Given the description of an element on the screen output the (x, y) to click on. 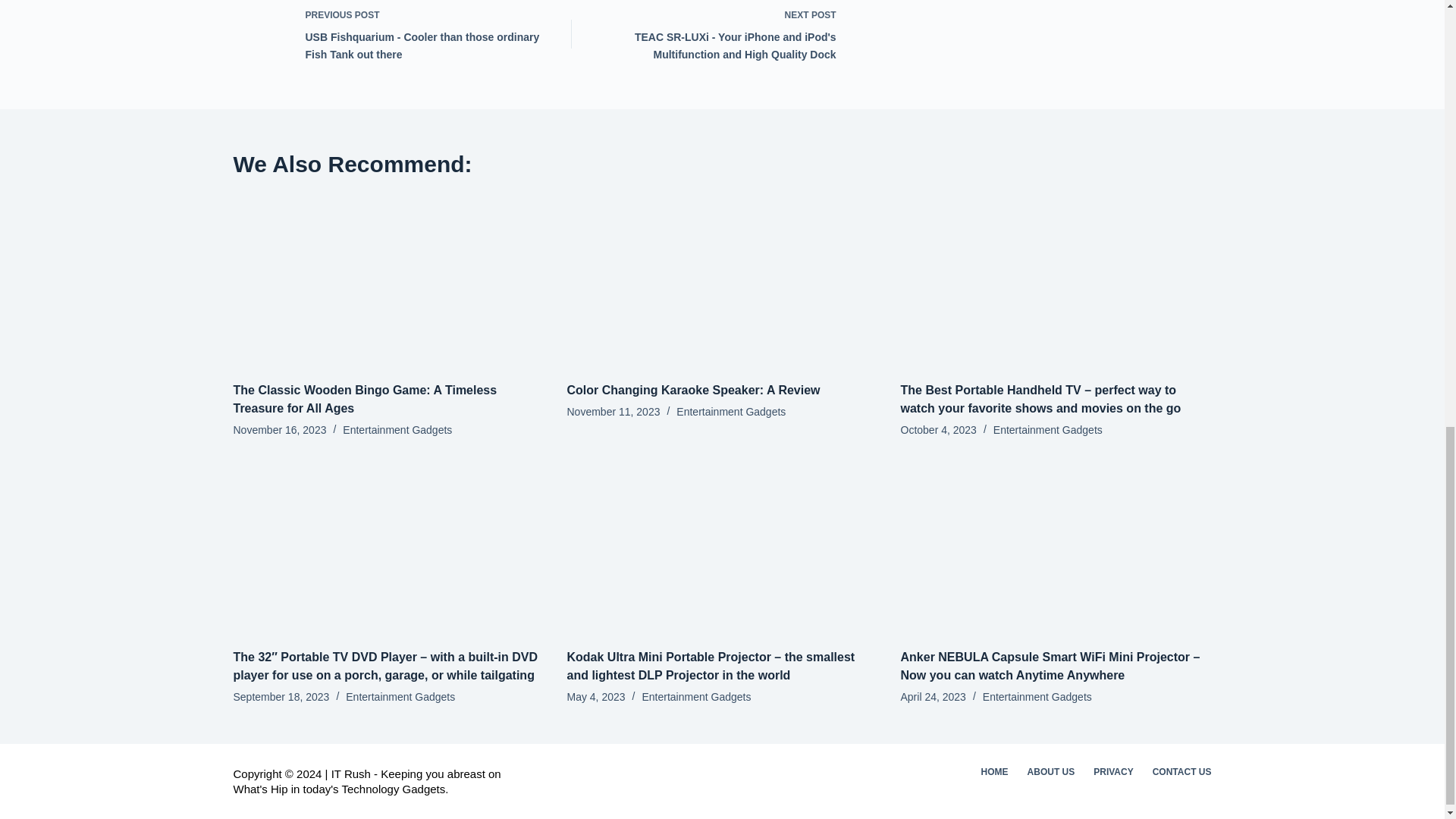
About IT Rush (1050, 772)
Entertainment Gadgets (396, 429)
Home (994, 772)
